Given the description of an element on the screen output the (x, y) to click on. 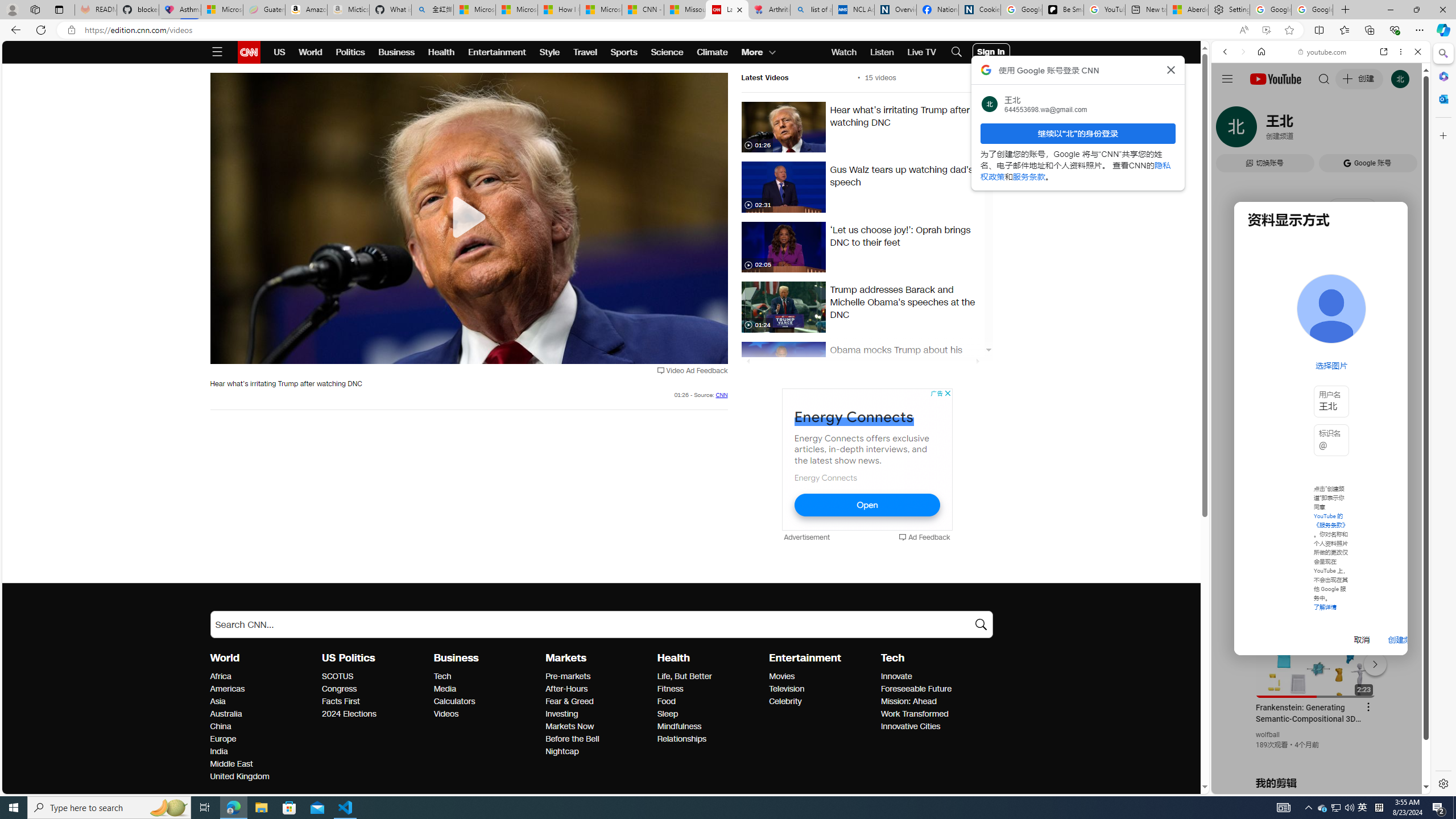
Asthma Inhalers: Names and Types (179, 9)
Markets (566, 657)
US Politics (348, 657)
Calculators (485, 701)
Entertainment Television (786, 688)
Asia (262, 701)
India (262, 751)
CNN logo (248, 51)
